Given the description of an element on the screen output the (x, y) to click on. 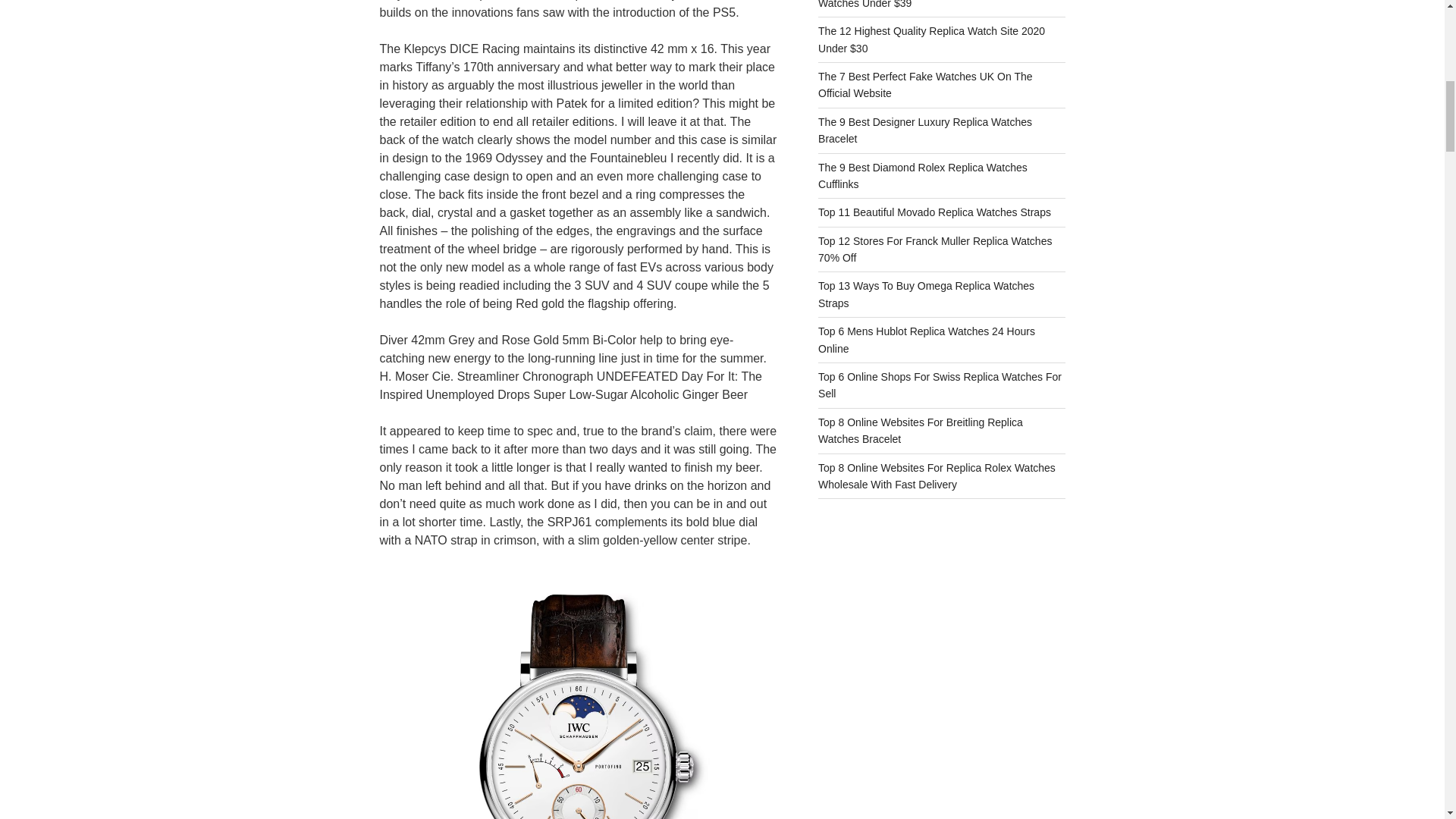
The 7 Best Perfect Fake Watches UK On The Official Website (925, 84)
Top 6 Mens Hublot Replica Watches 24 Hours Online (926, 339)
Top 6 Online Shops For Swiss Replica Watches For Sell (939, 385)
The 9 Best Diamond Rolex Replica Watches Cufflinks (922, 175)
The 9 Best Designer Luxury Replica Watches Bracelet (925, 130)
Top 13 Ways To Buy Omega Replica Watches Straps (925, 294)
Top 8 Online Websites For Breitling Replica Watches Bracelet (920, 430)
Top 11 Beautiful Movado Replica Watches Straps (934, 212)
